Given the description of an element on the screen output the (x, y) to click on. 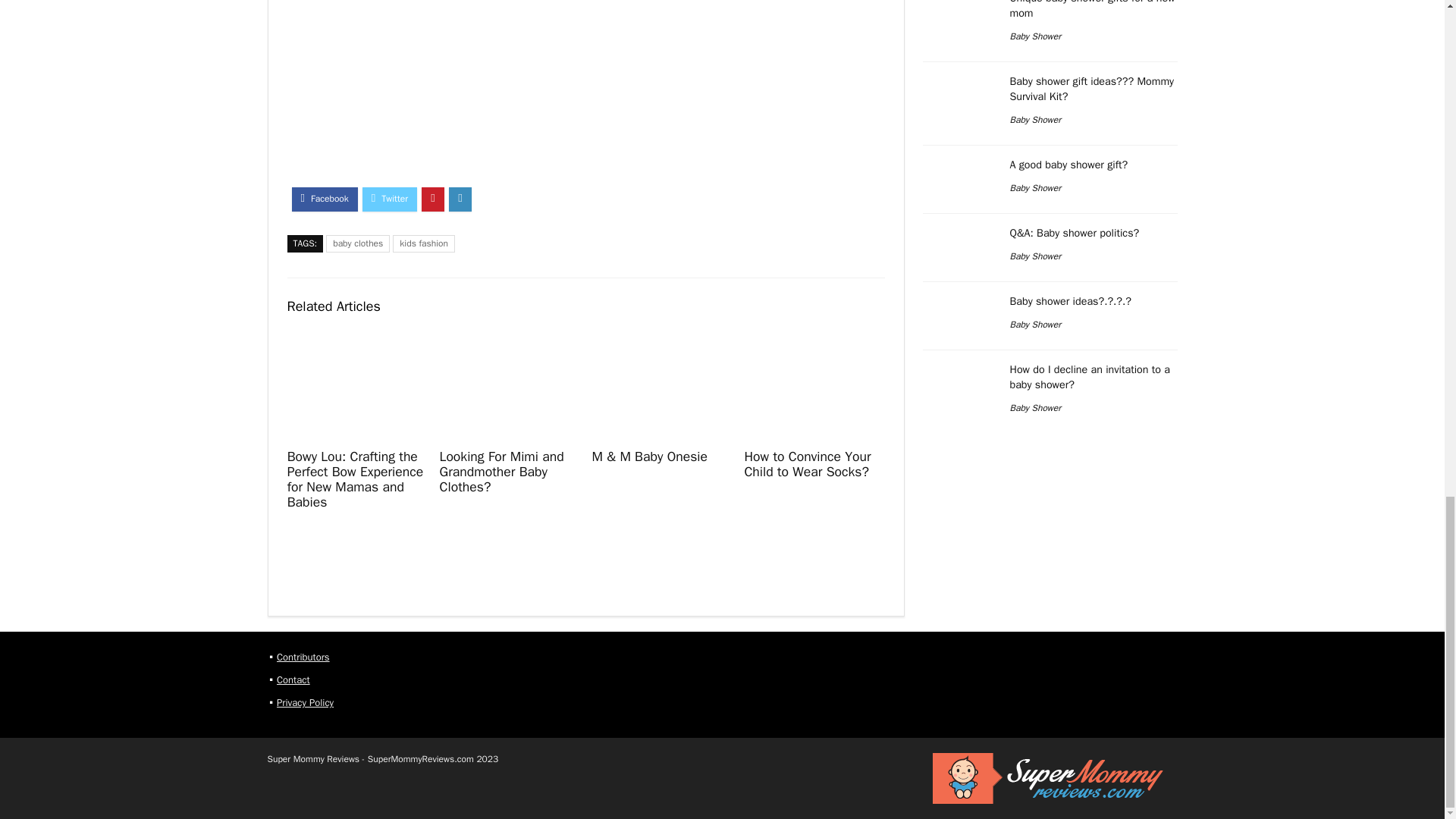
Looking For Mimi and Grandmother Baby Clothes? (501, 471)
kids fashion (423, 243)
baby clothes (358, 243)
How to Convince Your Child to Wear Socks? (807, 463)
